Given the description of an element on the screen output the (x, y) to click on. 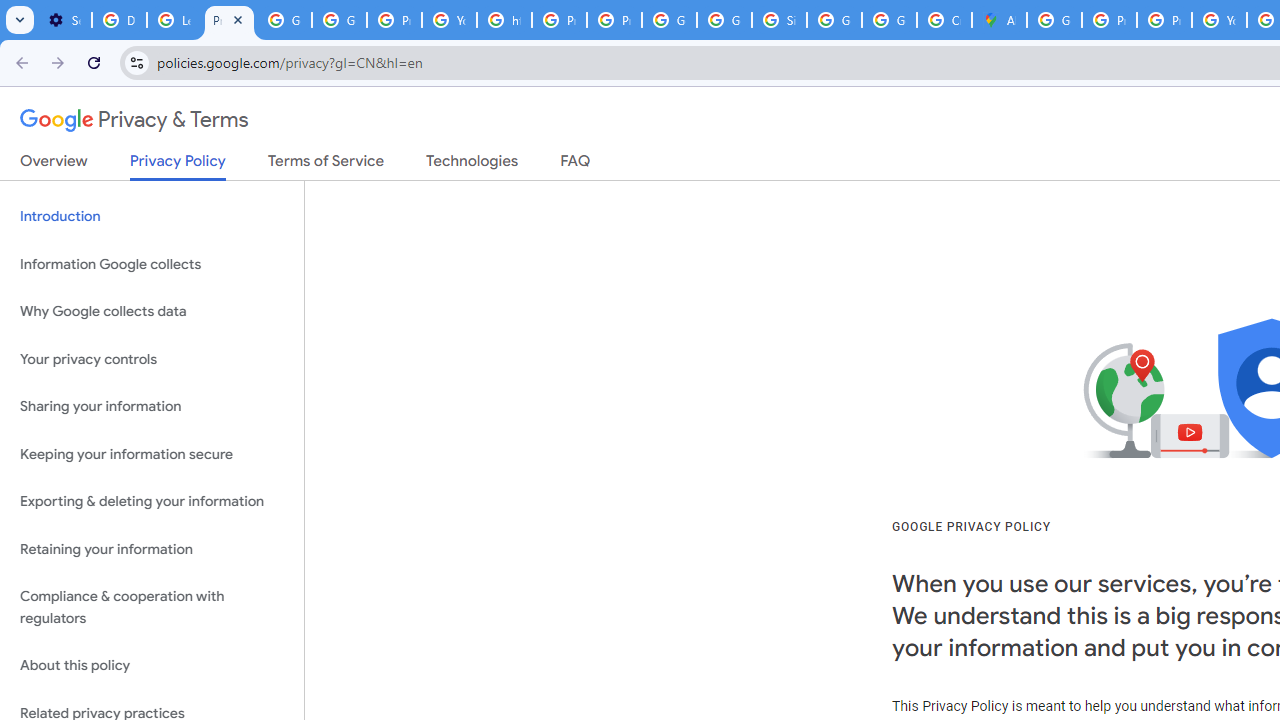
Privacy Help Center - Policies Help (559, 20)
Google Account Help (284, 20)
Privacy Help Center - Policies Help (1163, 20)
